Given the description of an element on the screen output the (x, y) to click on. 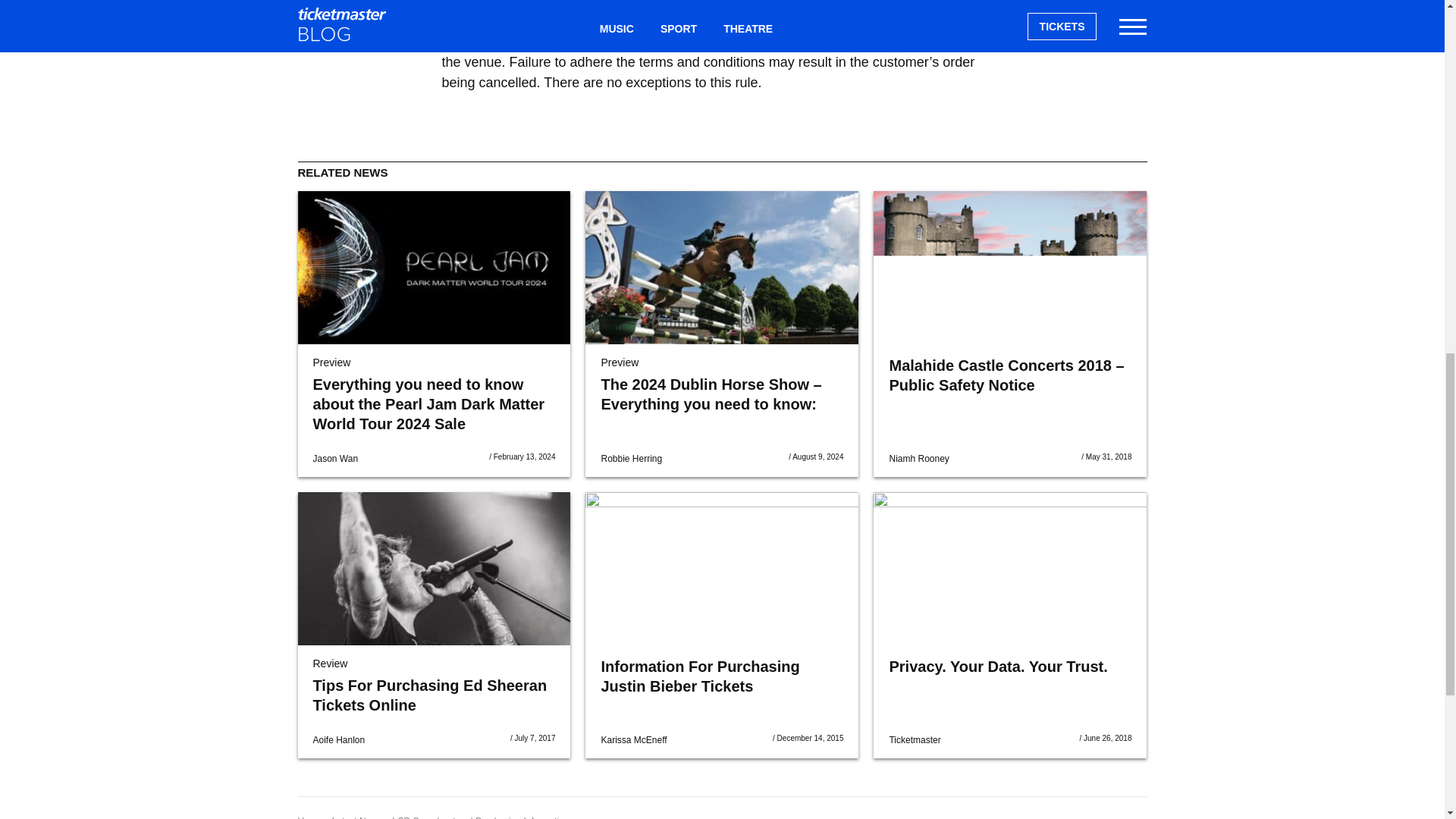
Aoife Hanlon (339, 739)
Information For Purchasing Justin Bieber Tickets (699, 676)
Robbie Herring (630, 458)
Privacy. Your Data. Your Trust. (1010, 568)
Karissa McEneff (632, 739)
Tips For Purchasing Ed Sheeran Tickets Online (430, 695)
Information For Purchasing Justin Bieber Tickets (722, 568)
Tips For Purchasing Ed Sheeran Tickets Online (433, 568)
